Given the description of an element on the screen output the (x, y) to click on. 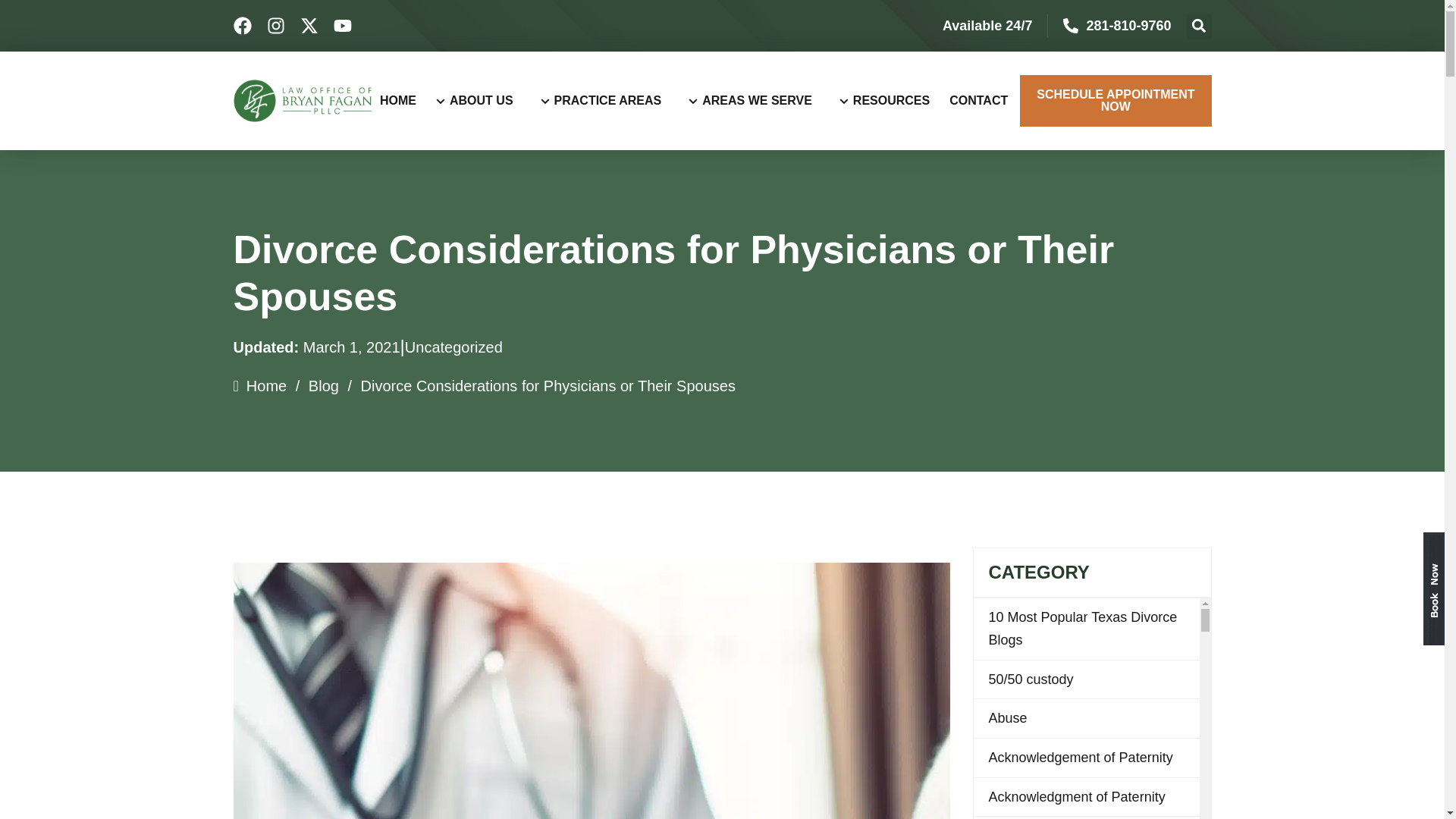
281-810-9760 (1128, 25)
HOME (404, 100)
ABOUT US (480, 100)
PRACTICE AREAS (606, 100)
